Given the description of an element on the screen output the (x, y) to click on. 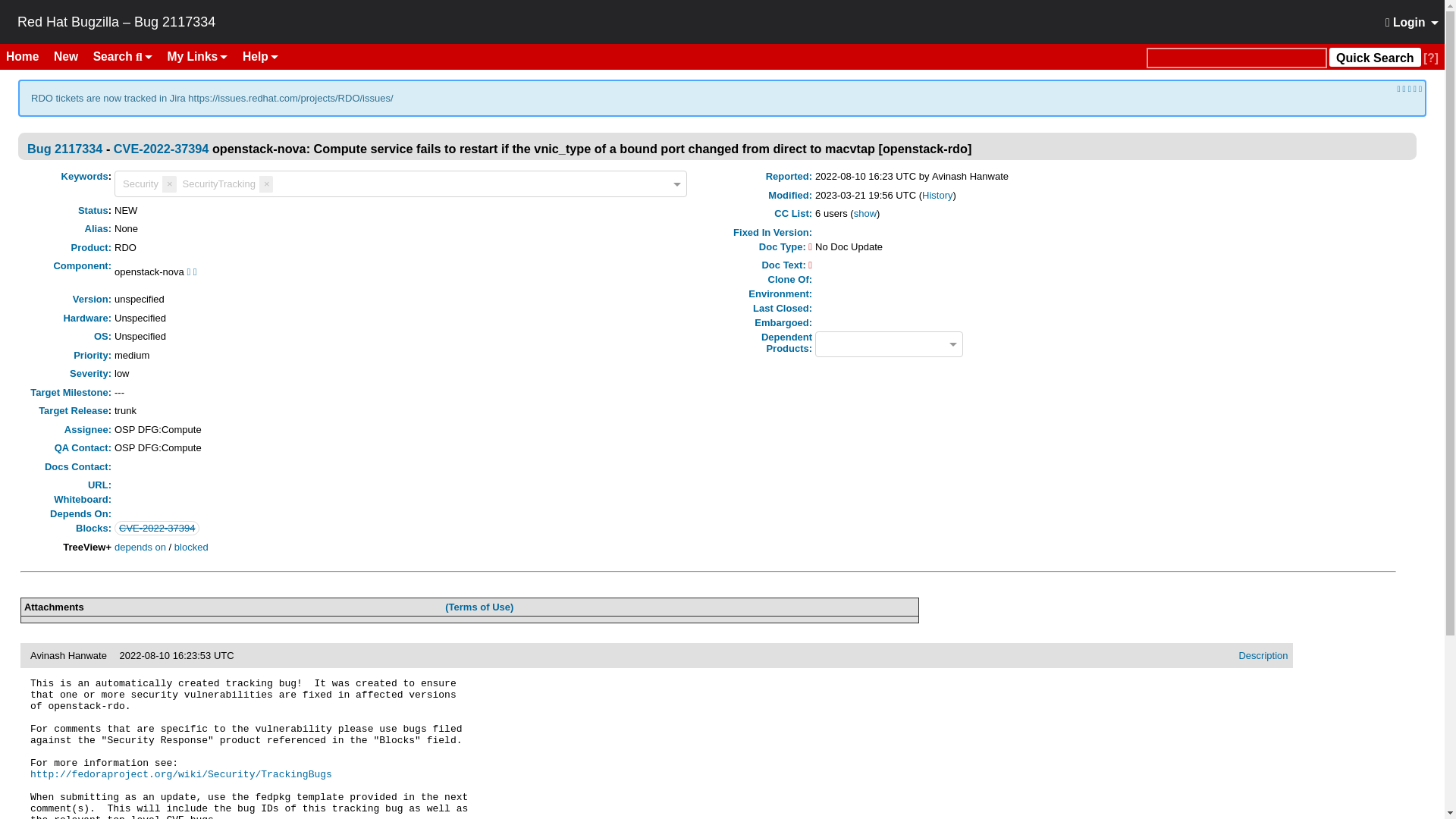
New (72, 56)
Quick Search (1375, 56)
Help (259, 56)
My Links (197, 56)
Quick Search (1236, 57)
Search (122, 56)
Home (28, 56)
